Given the description of an element on the screen output the (x, y) to click on. 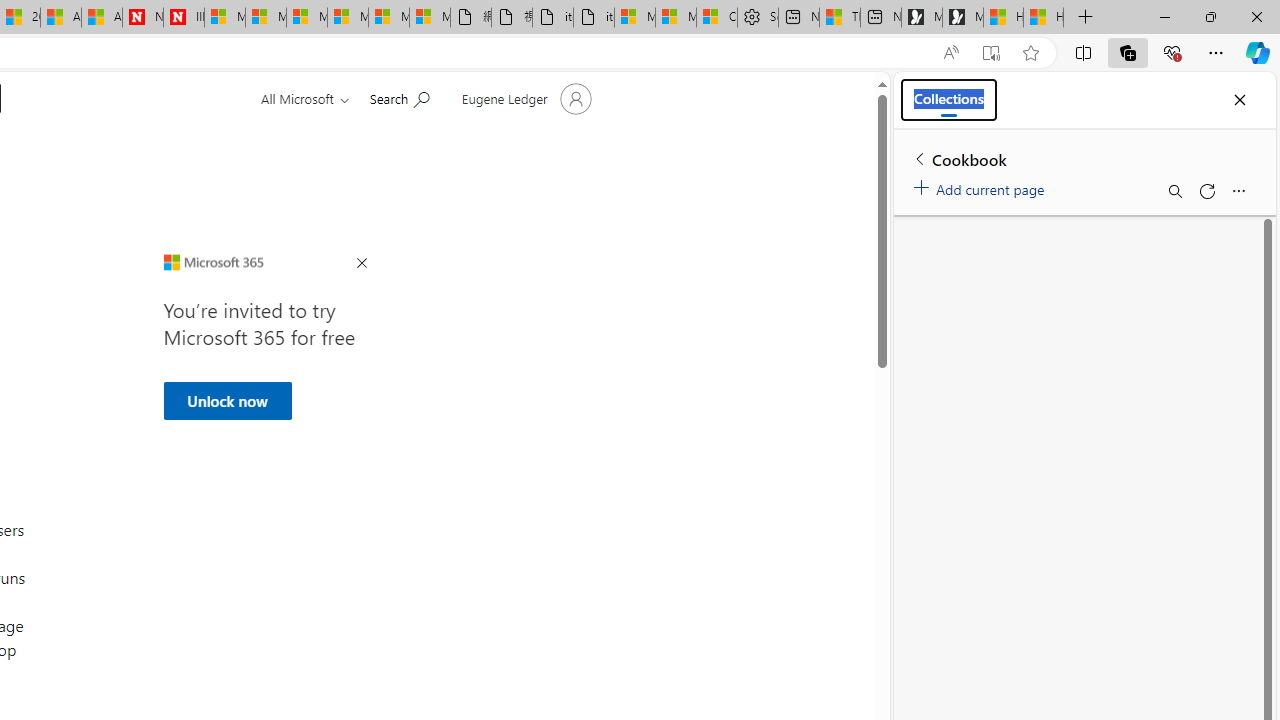
Newsweek - News, Analysis, Politics, Business, Technology (142, 17)
Unlock now (226, 399)
How to Use a TV as a Computer Monitor (1043, 17)
Consumer Health Data Privacy Policy (717, 17)
Three Ways To Stop Sweating So Much (840, 17)
More options menu (1238, 190)
